Given the description of an element on the screen output the (x, y) to click on. 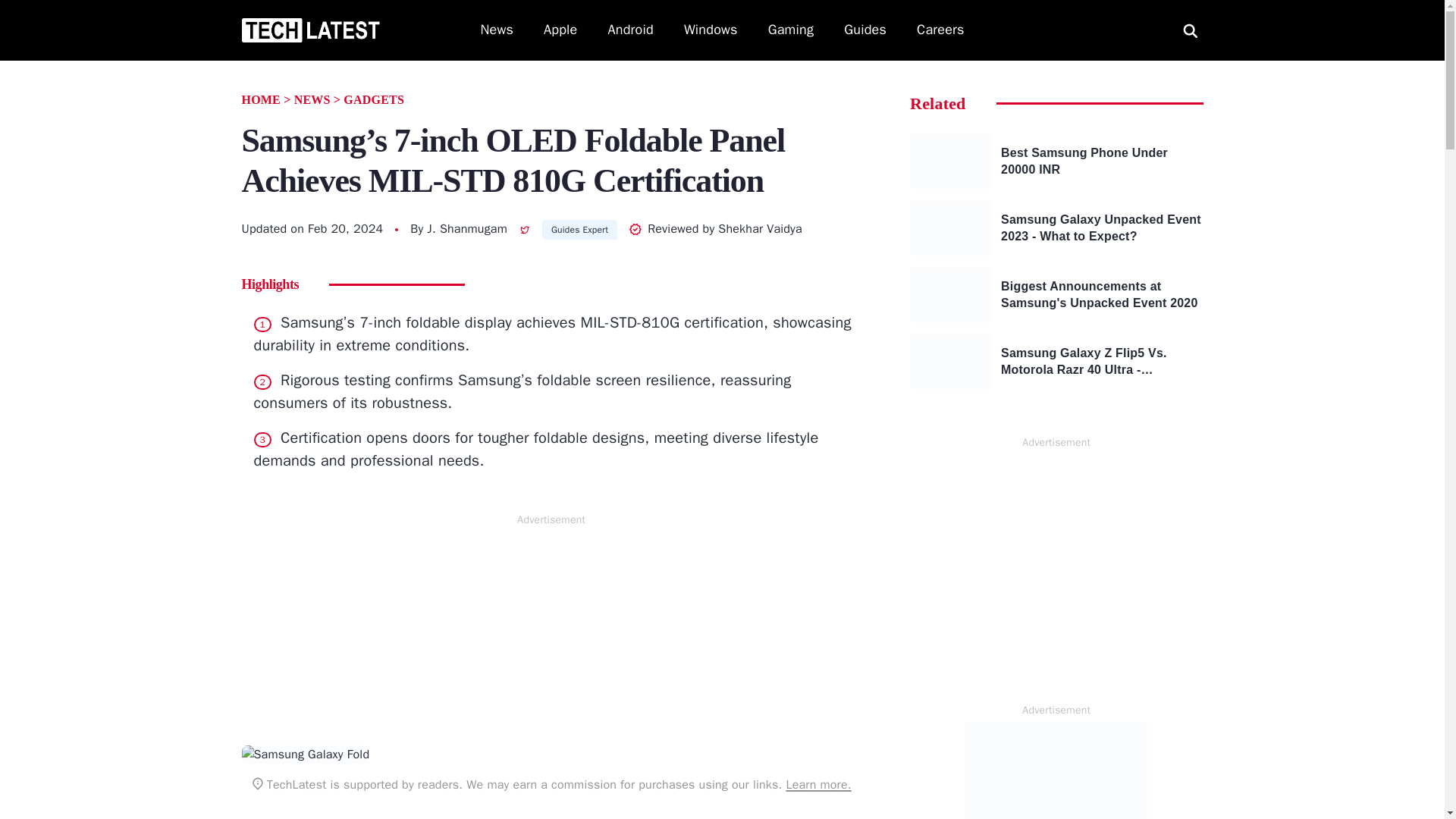
Windows (711, 30)
Gaming (790, 30)
Shekhar Vaidya (759, 228)
HOME (260, 99)
Search for: (1189, 29)
News (496, 30)
Android (630, 30)
NEWS (312, 99)
Guides (865, 30)
J. Shanmugam (466, 228)
Search (29, 11)
GADGETS (373, 99)
Apple (560, 30)
Careers (940, 30)
Learn more. (818, 784)
